Given the description of an element on the screen output the (x, y) to click on. 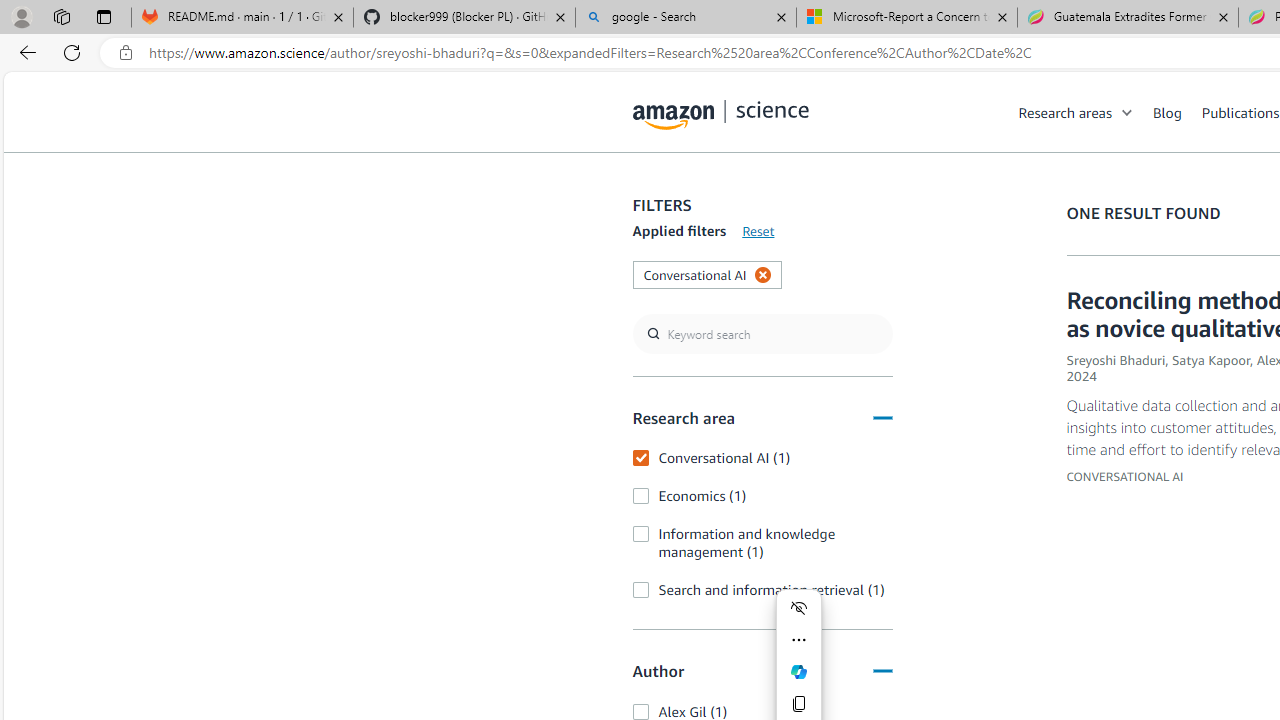
Ask Copilot (798, 671)
Publications (1240, 111)
Open Sub Navigation (1128, 111)
google - Search (686, 17)
Personal Profile (21, 16)
Class: chevron (1128, 116)
More actions (798, 639)
Microsoft-Report a Concern to Bing (907, 17)
Close tab (1222, 16)
Sreyoshi Bhaduri (1116, 360)
